Given the description of an element on the screen output the (x, y) to click on. 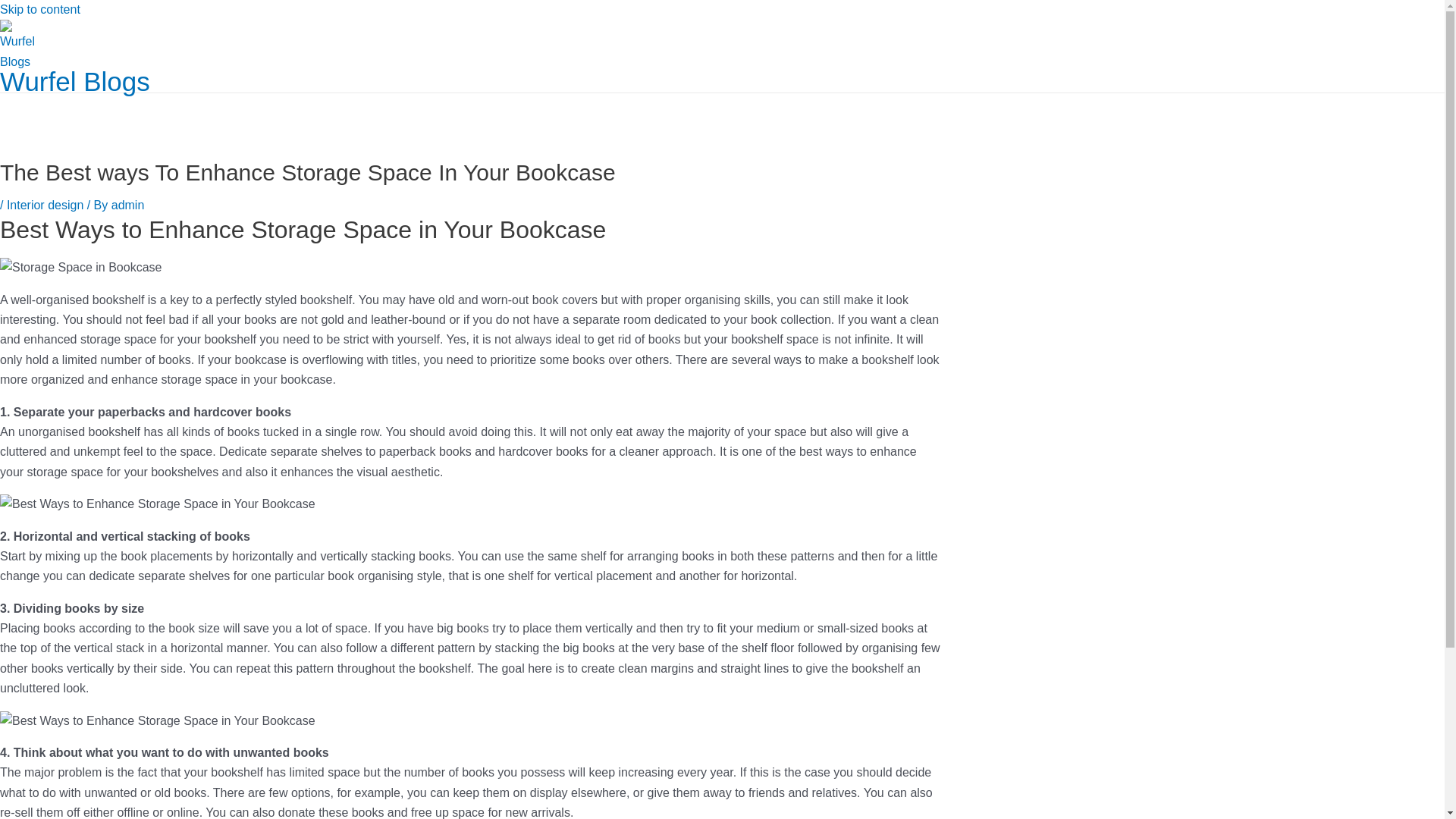
Best Ways to Enhance Storage Space in Your Bookcase (80, 267)
Best Ways to Enhance Storage Space in Your Bookcase (157, 721)
Skip to content (40, 9)
Wurfel Blogs (74, 81)
Interior design (44, 205)
View all posts by admin (128, 205)
Best Ways to Enhance Storage Space in Your Bookcase (157, 504)
admin (128, 205)
Skip to content (40, 9)
